Given the description of an element on the screen output the (x, y) to click on. 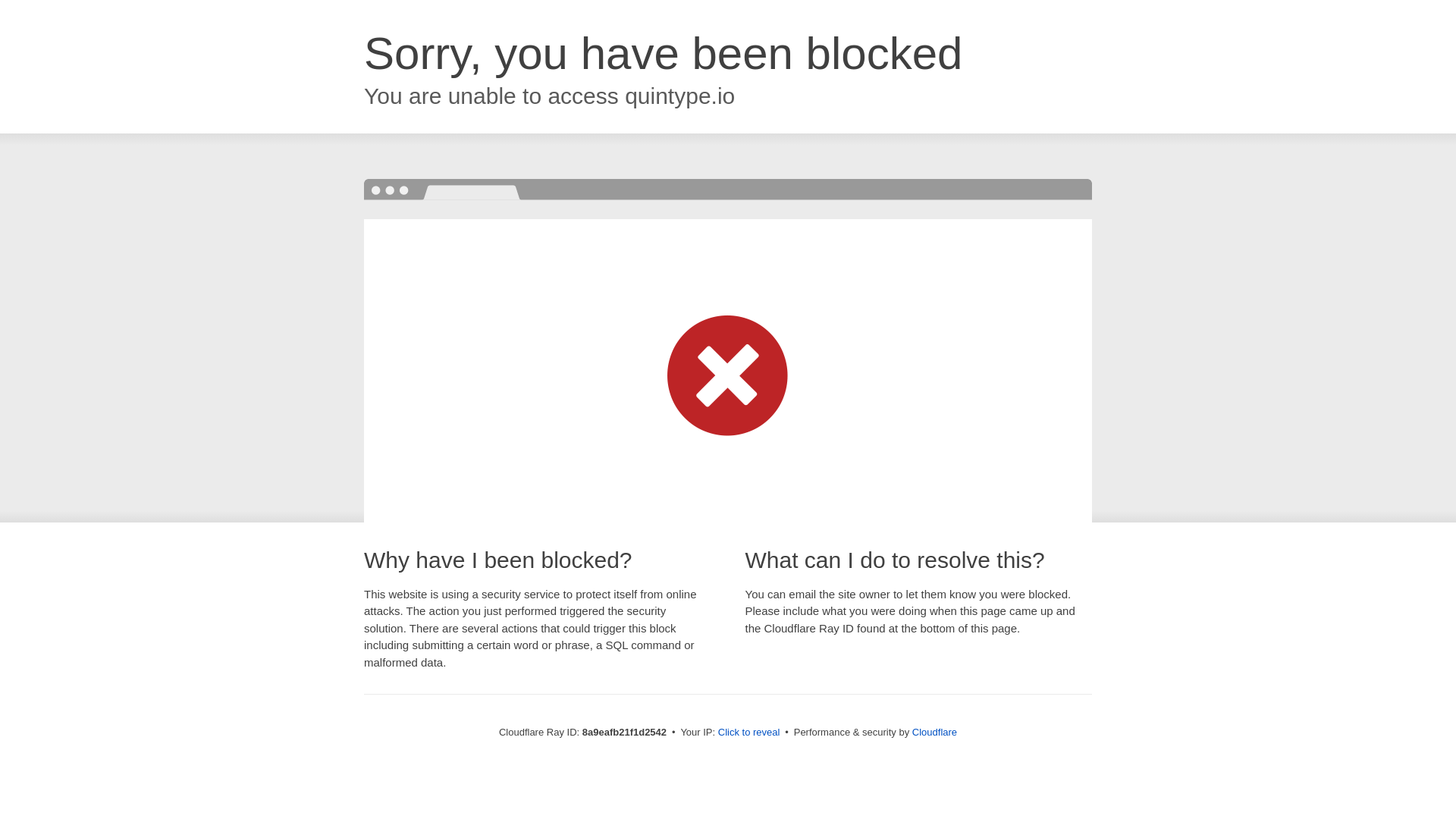
Cloudflare (934, 731)
Click to reveal (748, 732)
